Given the description of an element on the screen output the (x, y) to click on. 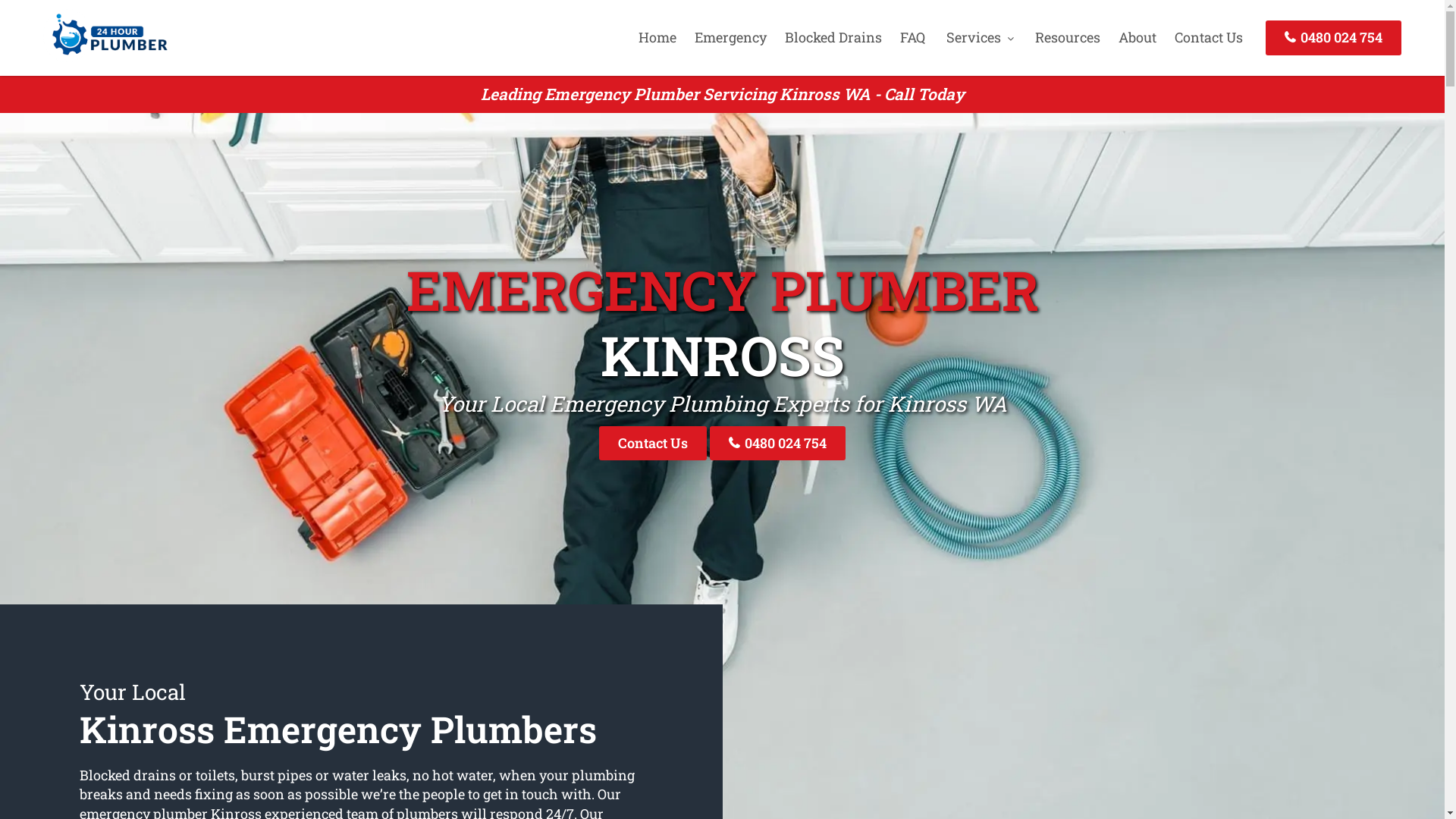
Home Element type: text (657, 37)
About Element type: text (1137, 37)
0480 024 754 Element type: text (777, 443)
Resources Element type: text (1067, 37)
Emergency Element type: text (730, 37)
Services Element type: text (979, 37)
0480 024 754 Element type: text (1333, 37)
FAQ Element type: text (912, 37)
Contact Us Element type: text (1208, 37)
24 Hour Plumber Element type: hover (105, 56)
Blocked Drains Element type: text (833, 37)
Contact Us Element type: text (652, 443)
